Given the description of an element on the screen output the (x, y) to click on. 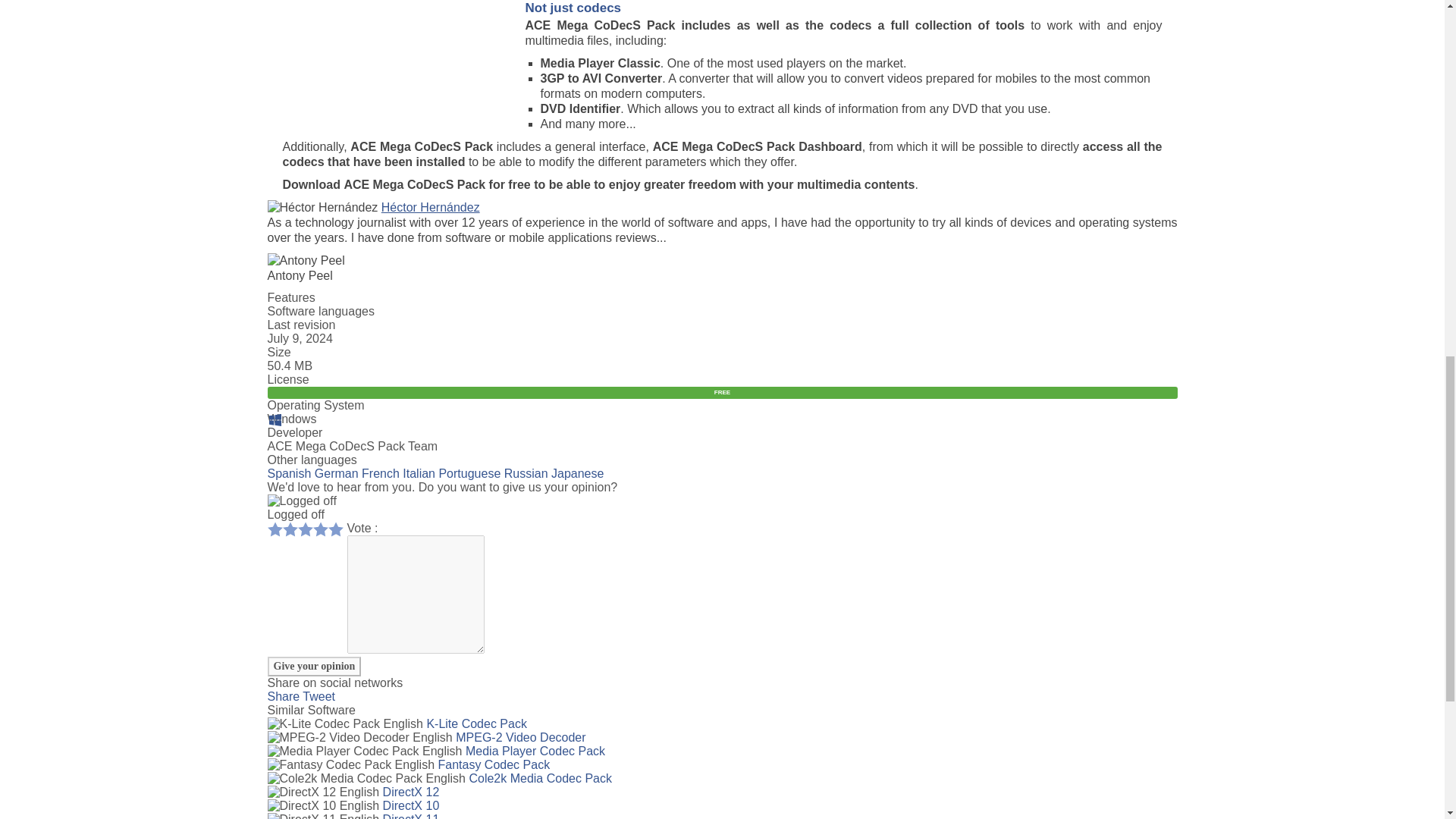
Japanese (577, 472)
Russian (525, 472)
Portuguese (469, 472)
French (379, 472)
Give your opinion (313, 666)
Italian (419, 472)
German (336, 472)
Spanish (288, 472)
